Given the description of an element on the screen output the (x, y) to click on. 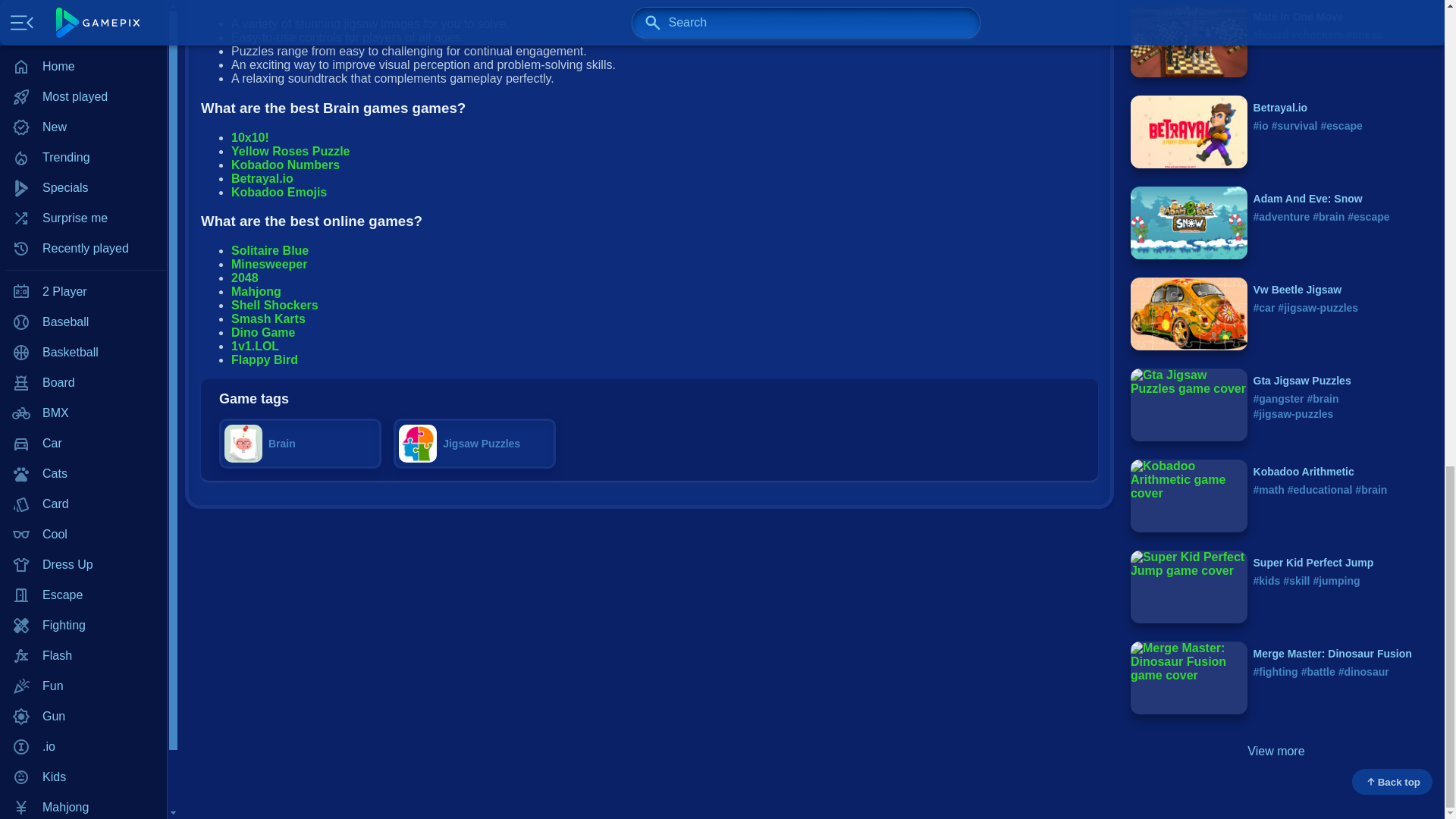
Soccer (83, 19)
Snake (83, 2)
Word (83, 79)
War (83, 49)
Zombie (83, 110)
